Given the description of an element on the screen output the (x, y) to click on. 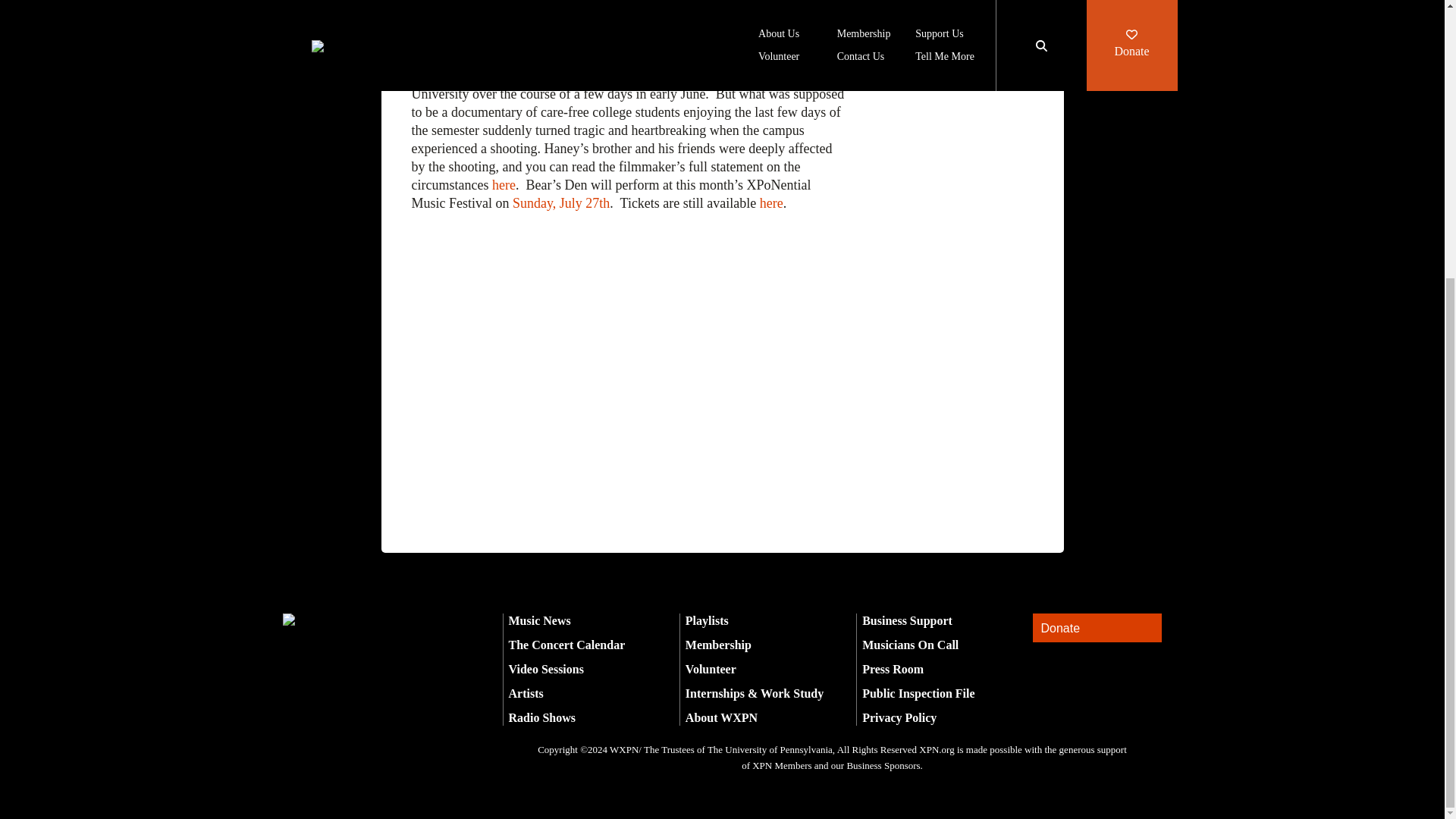
Public Inspection File (917, 693)
About WXPN (721, 717)
Music News (539, 620)
Volunteer (710, 668)
Privacy Policy (898, 717)
Video Sessions (545, 668)
Membership (718, 644)
Artists (525, 693)
Sunday, July 27th (561, 202)
Musicians On Call (909, 644)
